Given the description of an element on the screen output the (x, y) to click on. 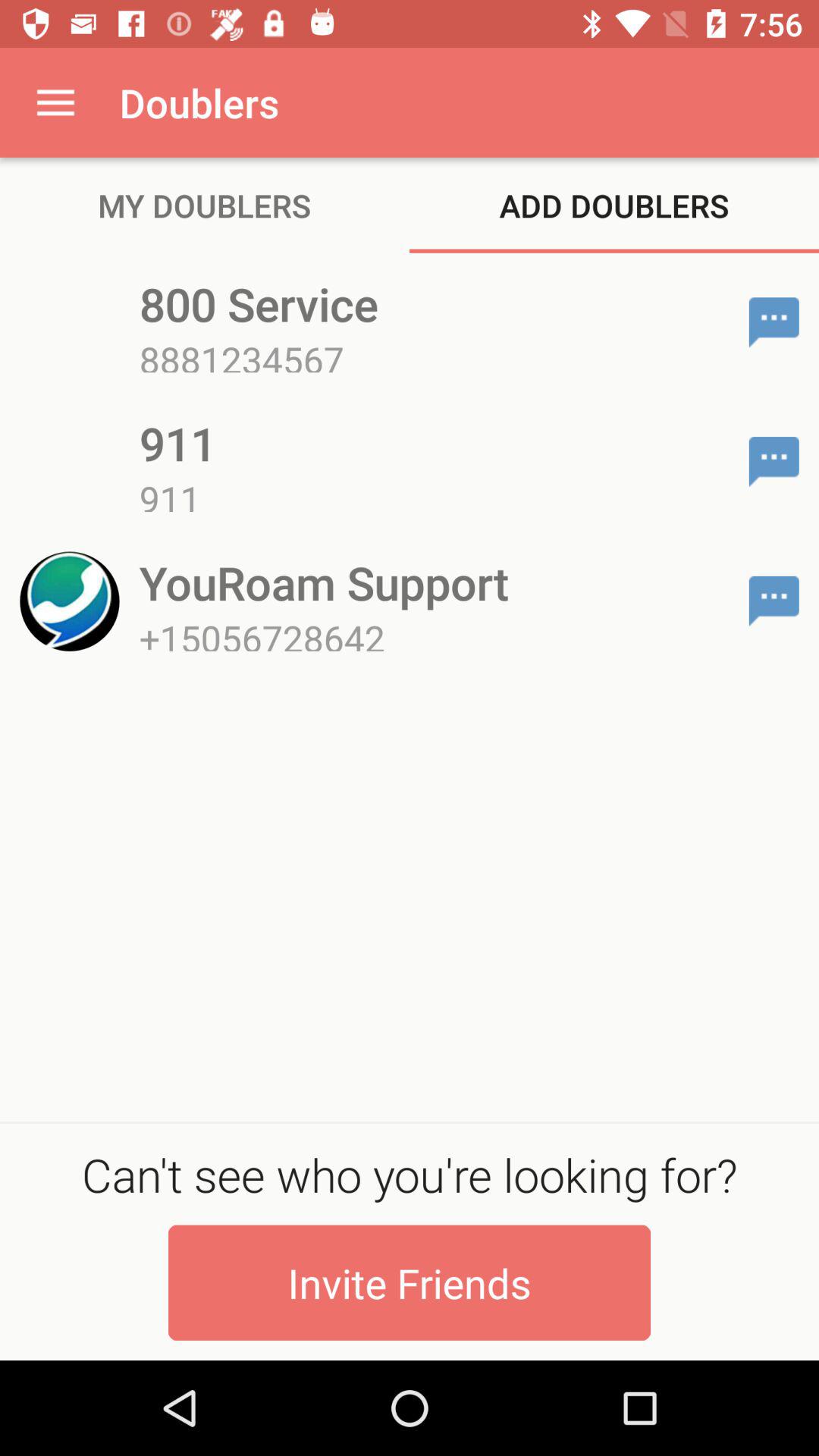
compose message (774, 601)
